Given the description of an element on the screen output the (x, y) to click on. 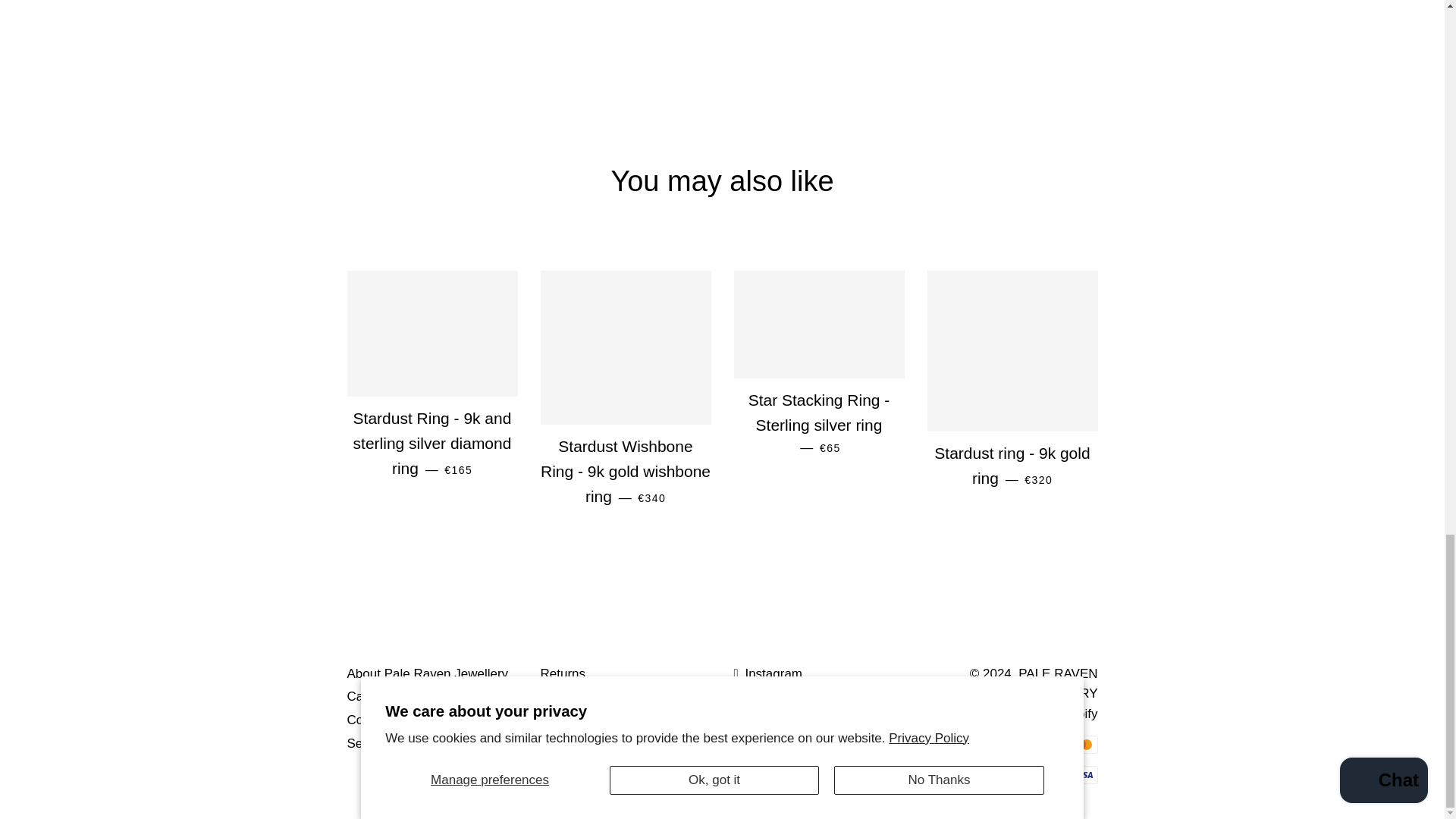
Apple Pay (979, 744)
Google Pay (1012, 744)
Maestro (1047, 744)
Shop Pay (1012, 774)
Mastercard (1082, 744)
American Express (945, 744)
Visa (1082, 774)
Union Pay (1047, 774)
PALE RAVEN JEWELLERY on Instagram (768, 673)
